Given the description of an element on the screen output the (x, y) to click on. 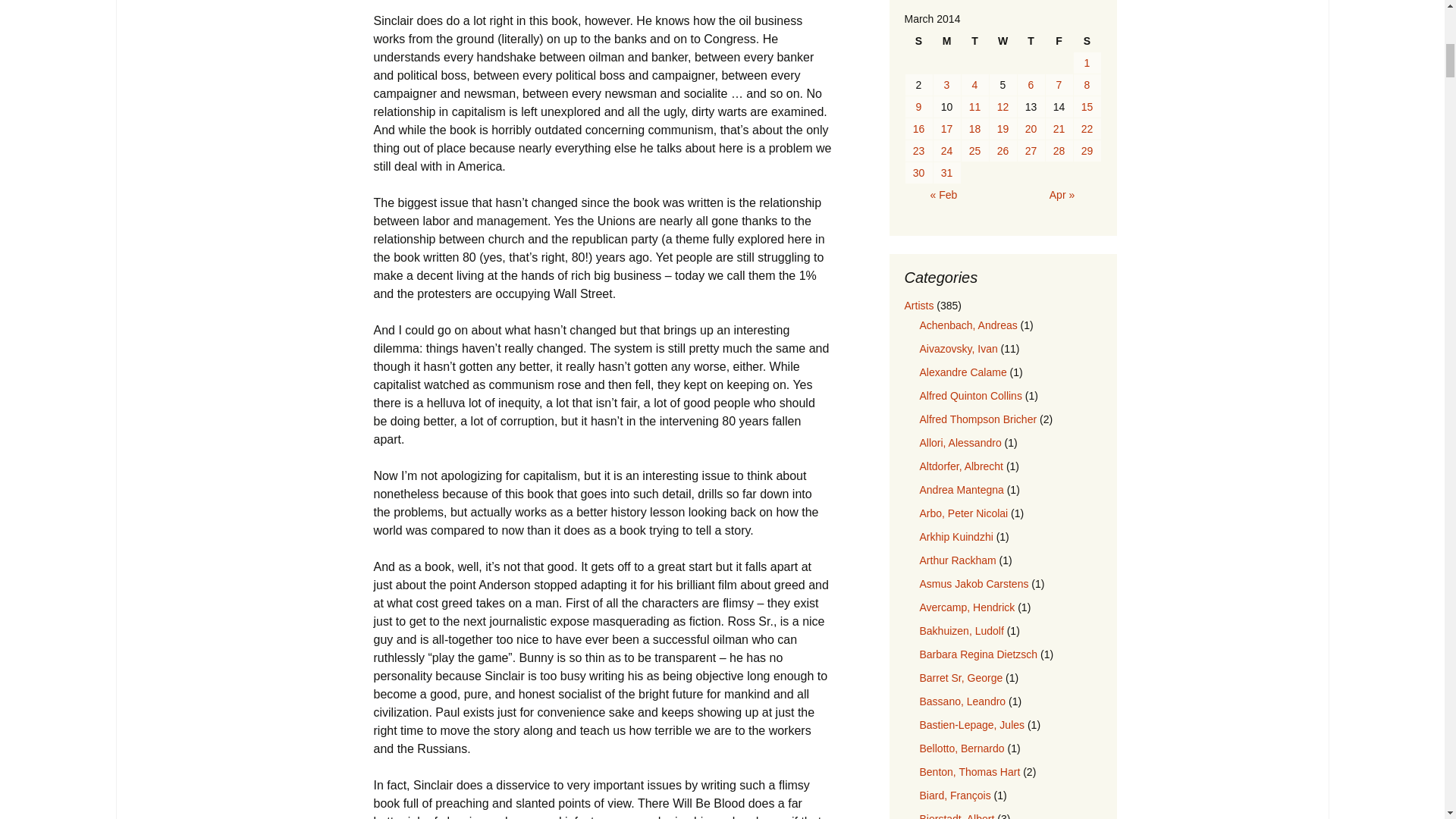
Wednesday (1002, 40)
3 (946, 84)
Tuesday (974, 40)
Sunday (919, 40)
Saturday (1087, 40)
28 (1058, 150)
16 (919, 128)
4 (974, 84)
17 (946, 128)
15 (1087, 106)
